Given the description of an element on the screen output the (x, y) to click on. 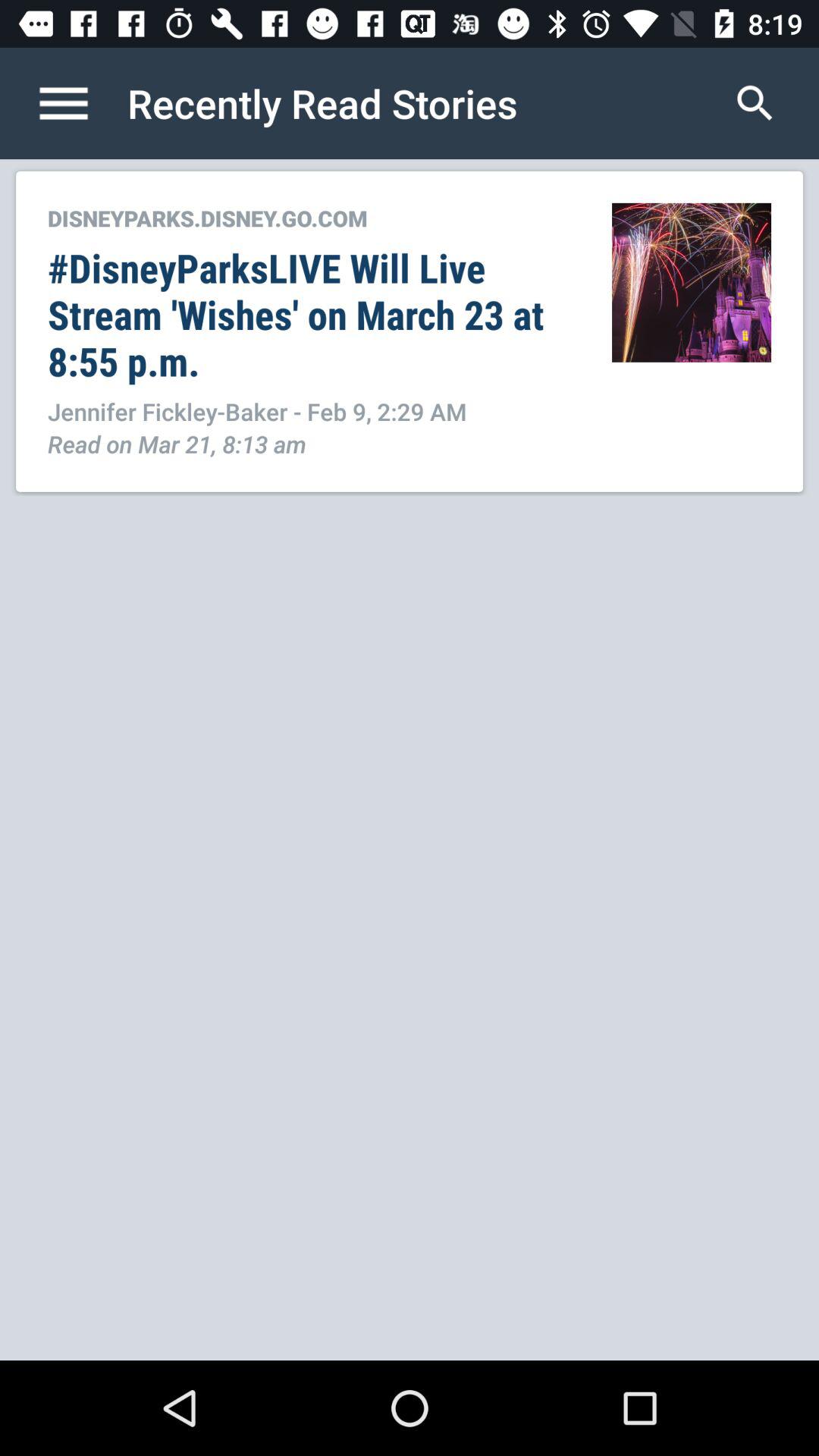
turn off the icon above the disneyparkslive will live item (313, 218)
